Given the description of an element on the screen output the (x, y) to click on. 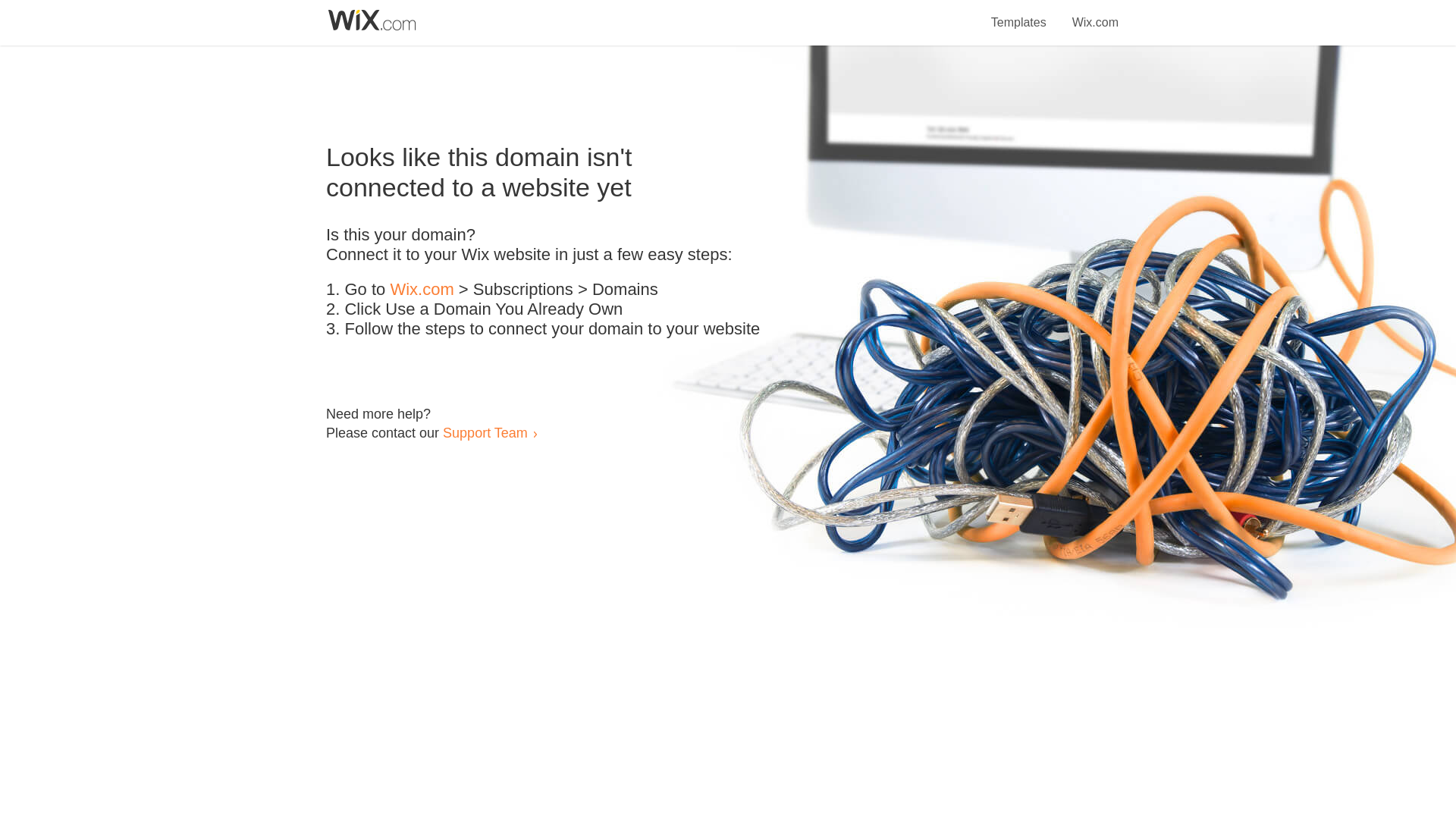
Wix.com (1095, 14)
Templates (1018, 14)
Support Team (484, 432)
Wix.com (421, 289)
